Given the description of an element on the screen output the (x, y) to click on. 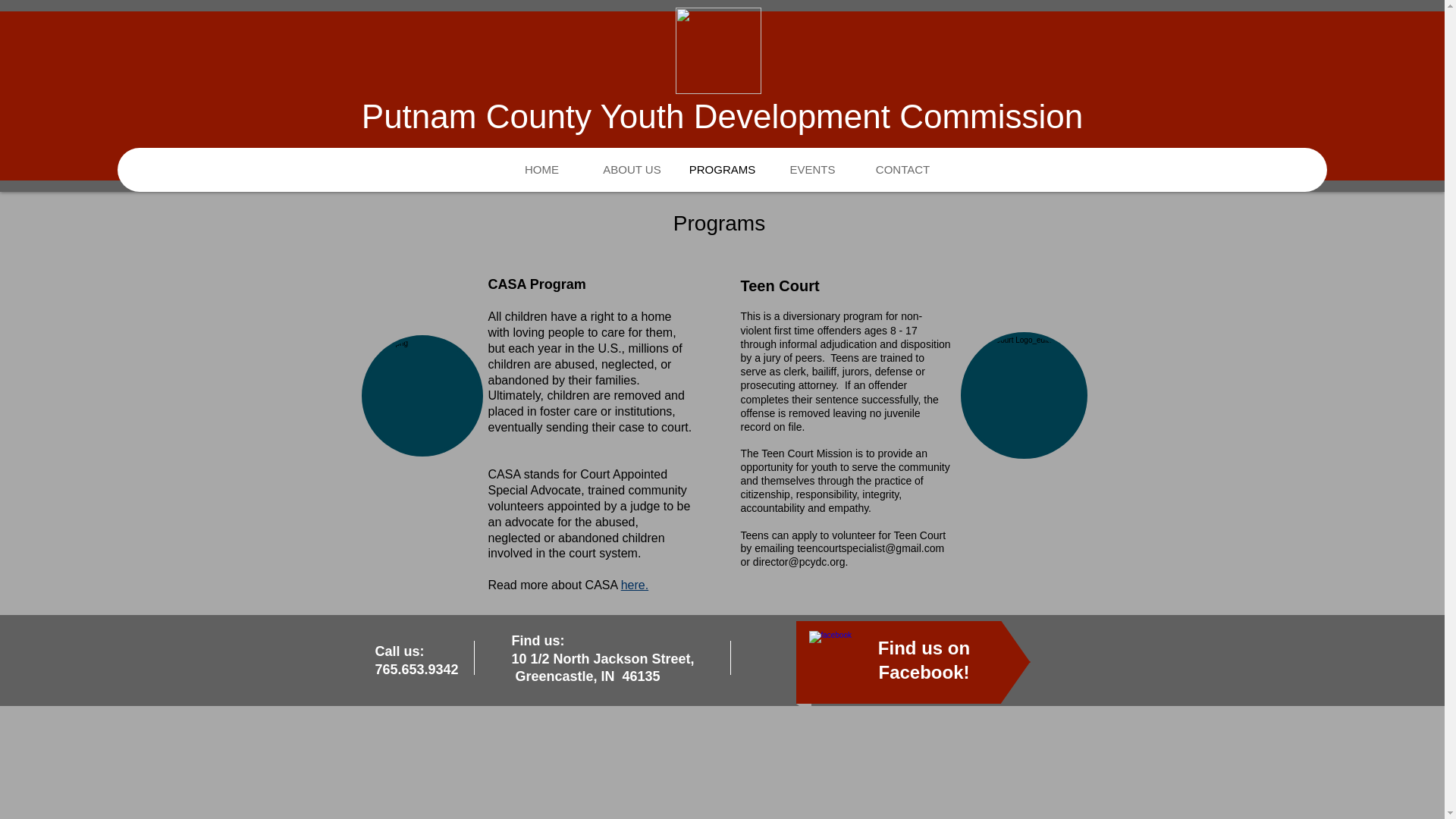
Putnam County Youth Development Commission (722, 116)
here. (634, 584)
CONTACT (902, 169)
HOME (541, 169)
ABOUT US (631, 169)
PROGRAMS (722, 169)
abused.jpg (421, 395)
EVENTS (812, 169)
PCYDC-logo.jpg (717, 50)
teencourt2.jpg (1022, 395)
